Given the description of an element on the screen output the (x, y) to click on. 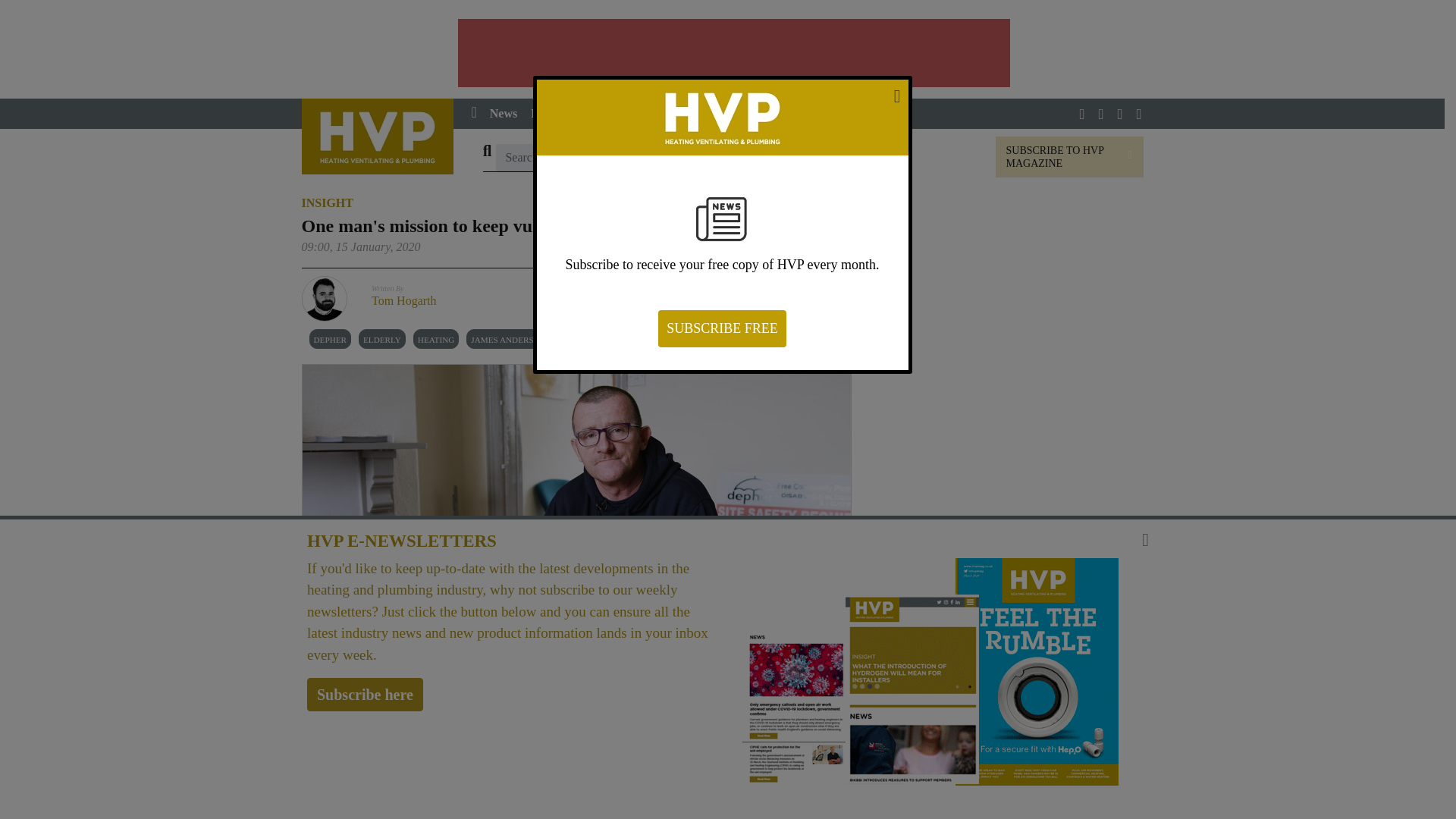
3rd party ad content (734, 52)
Products (559, 113)
News (503, 113)
3rd party ad content (1002, 511)
3rd party ad content (1002, 303)
Opinion (673, 113)
Video (723, 113)
Insight (620, 113)
PHEX (845, 113)
Magazine (783, 113)
